Given the description of an element on the screen output the (x, y) to click on. 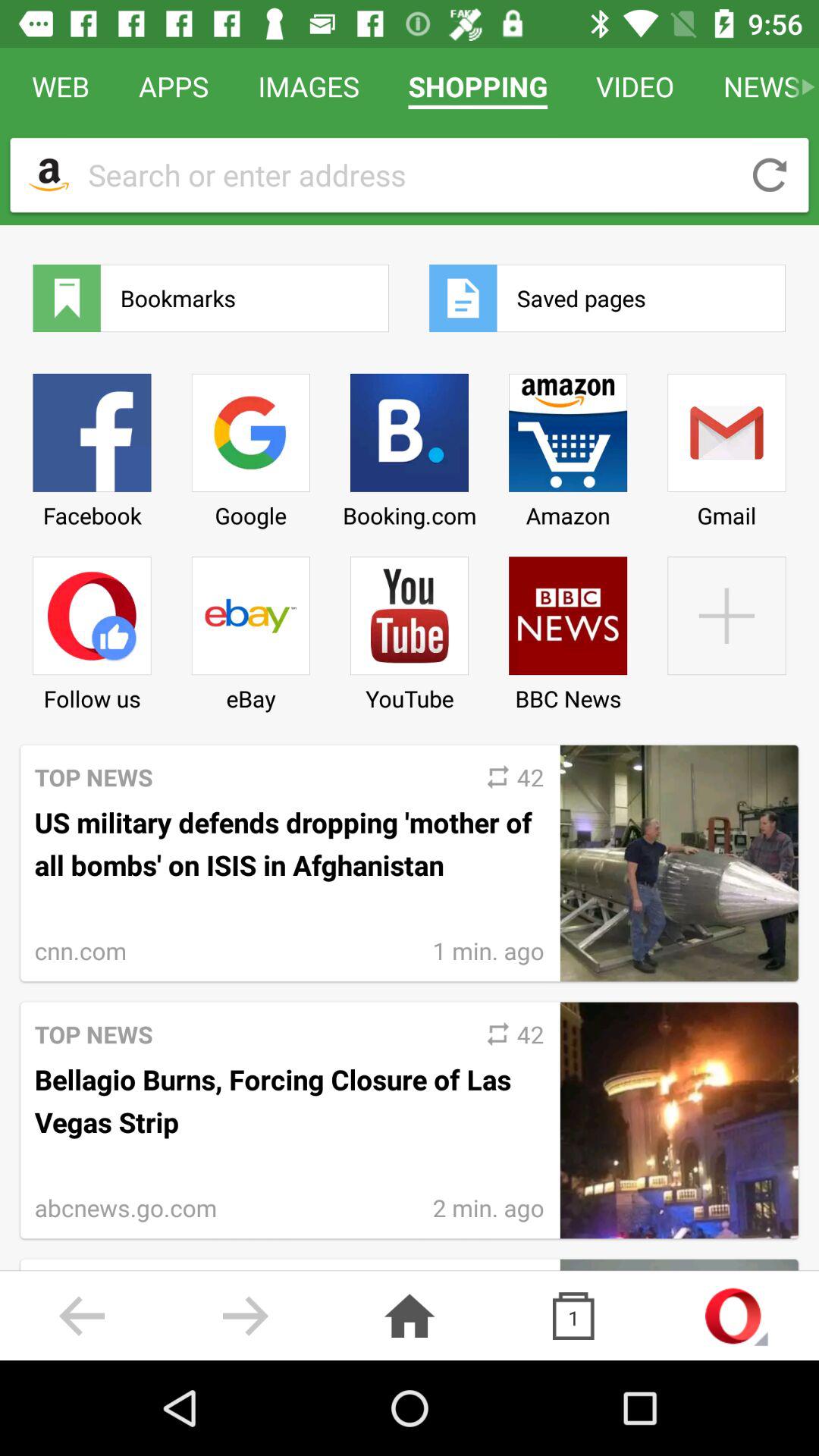
launch icon next to video icon (477, 86)
